Given the description of an element on the screen output the (x, y) to click on. 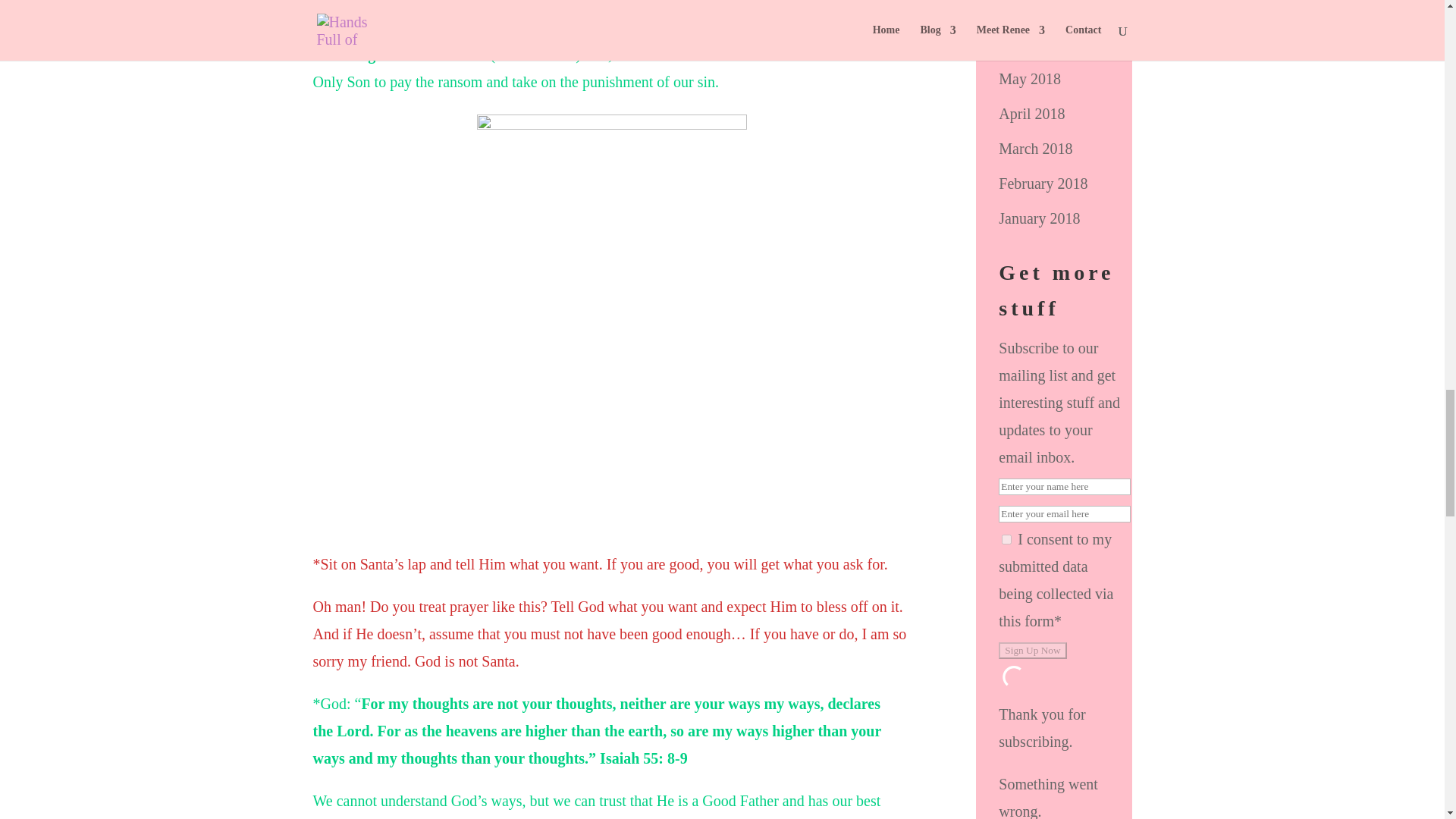
Sign Up Now (1031, 650)
Enter your email here (1064, 514)
on (1006, 539)
Enter your name here (1064, 486)
